Given the description of an element on the screen output the (x, y) to click on. 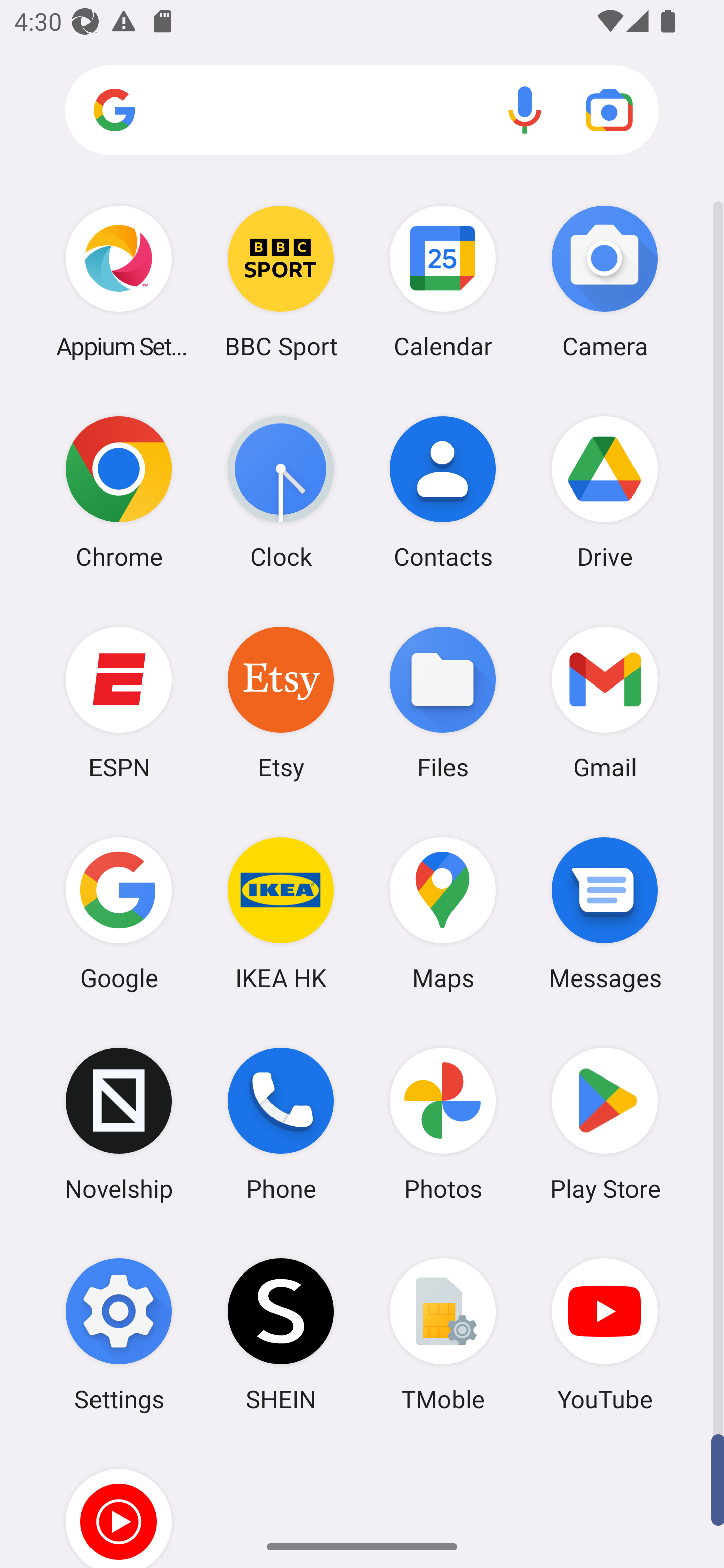
Search apps, web and more (361, 110)
Voice search (524, 109)
Google Lens (608, 109)
Appium Settings (118, 281)
BBC Sport (280, 281)
Calendar (443, 281)
Camera (604, 281)
Chrome (118, 492)
Clock (280, 492)
Contacts (443, 492)
Drive (604, 492)
ESPN (118, 702)
Etsy (280, 702)
Files (443, 702)
Gmail (604, 702)
Google (118, 913)
IKEA HK (280, 913)
Maps (443, 913)
Messages (604, 913)
Novelship (118, 1124)
Phone (280, 1124)
Photos (443, 1124)
Play Store (604, 1124)
Settings (118, 1334)
SHEIN (280, 1334)
TMoble (443, 1334)
YouTube (604, 1334)
YT Music (118, 1503)
